Given the description of an element on the screen output the (x, y) to click on. 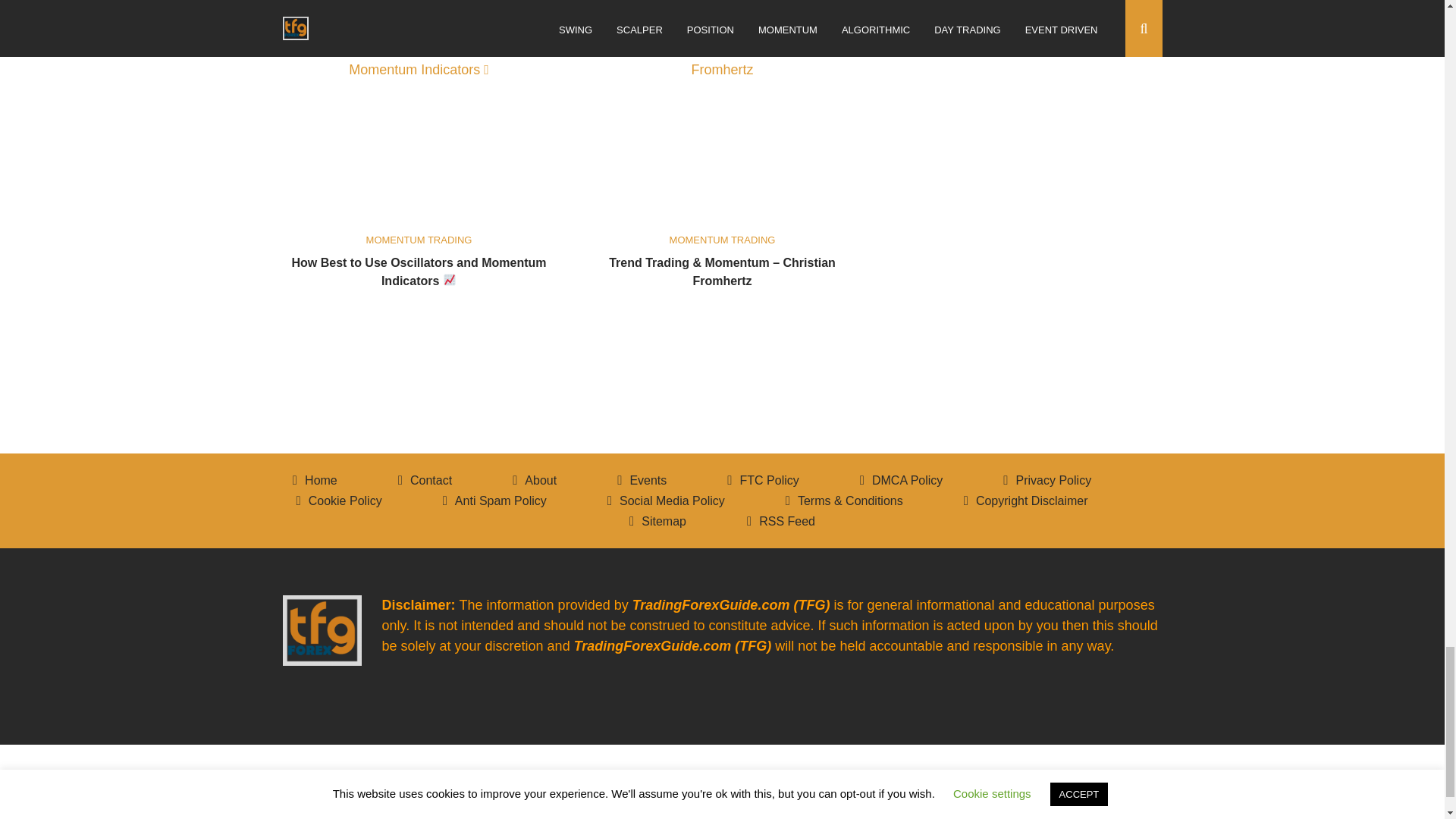
MOMENTUM TRADING (418, 239)
